Given the description of an element on the screen output the (x, y) to click on. 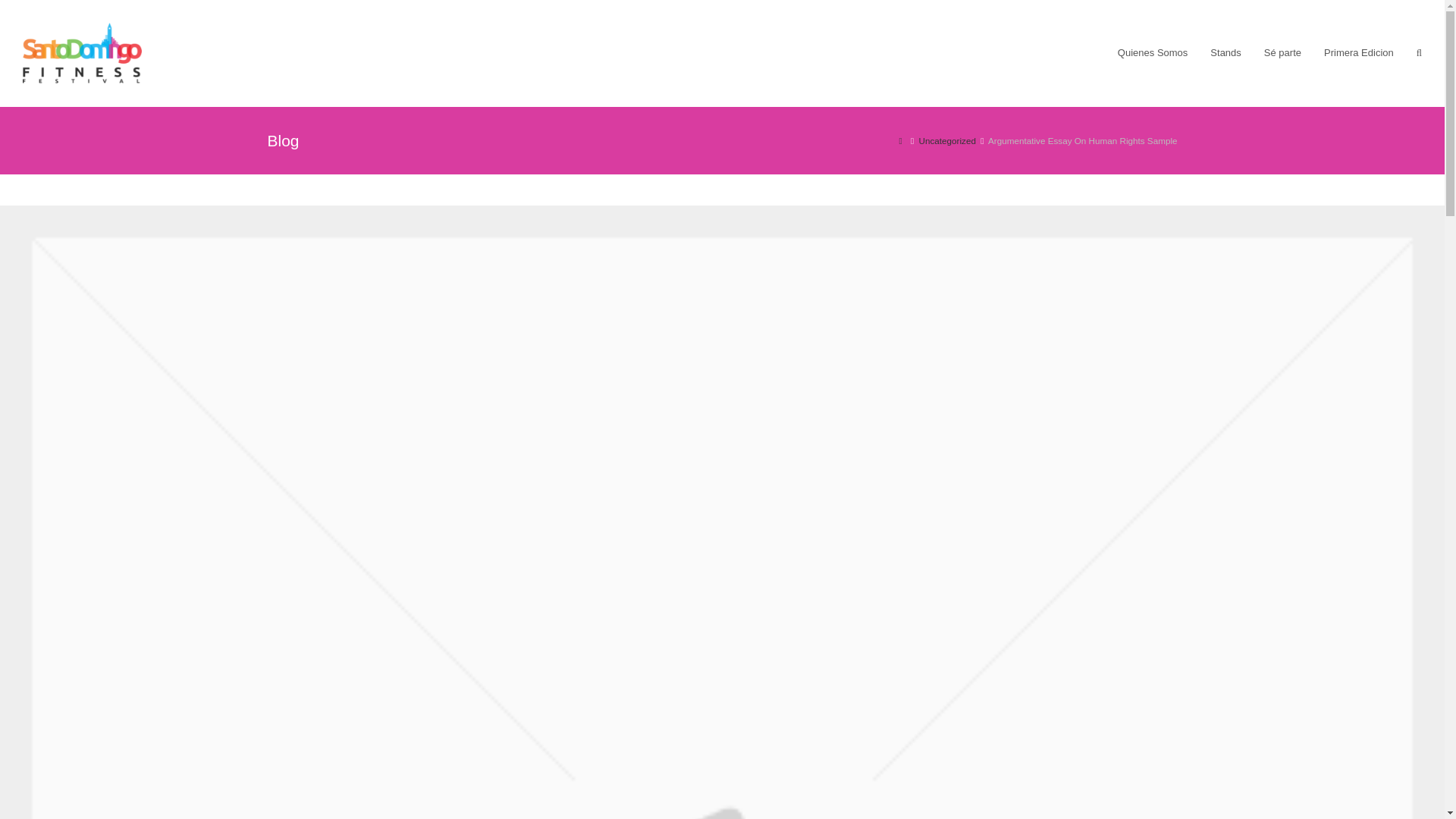
Primera Edicion (1359, 53)
Stands (1225, 53)
Uncategorized (946, 140)
Quienes Somos (1152, 53)
